Given the description of an element on the screen output the (x, y) to click on. 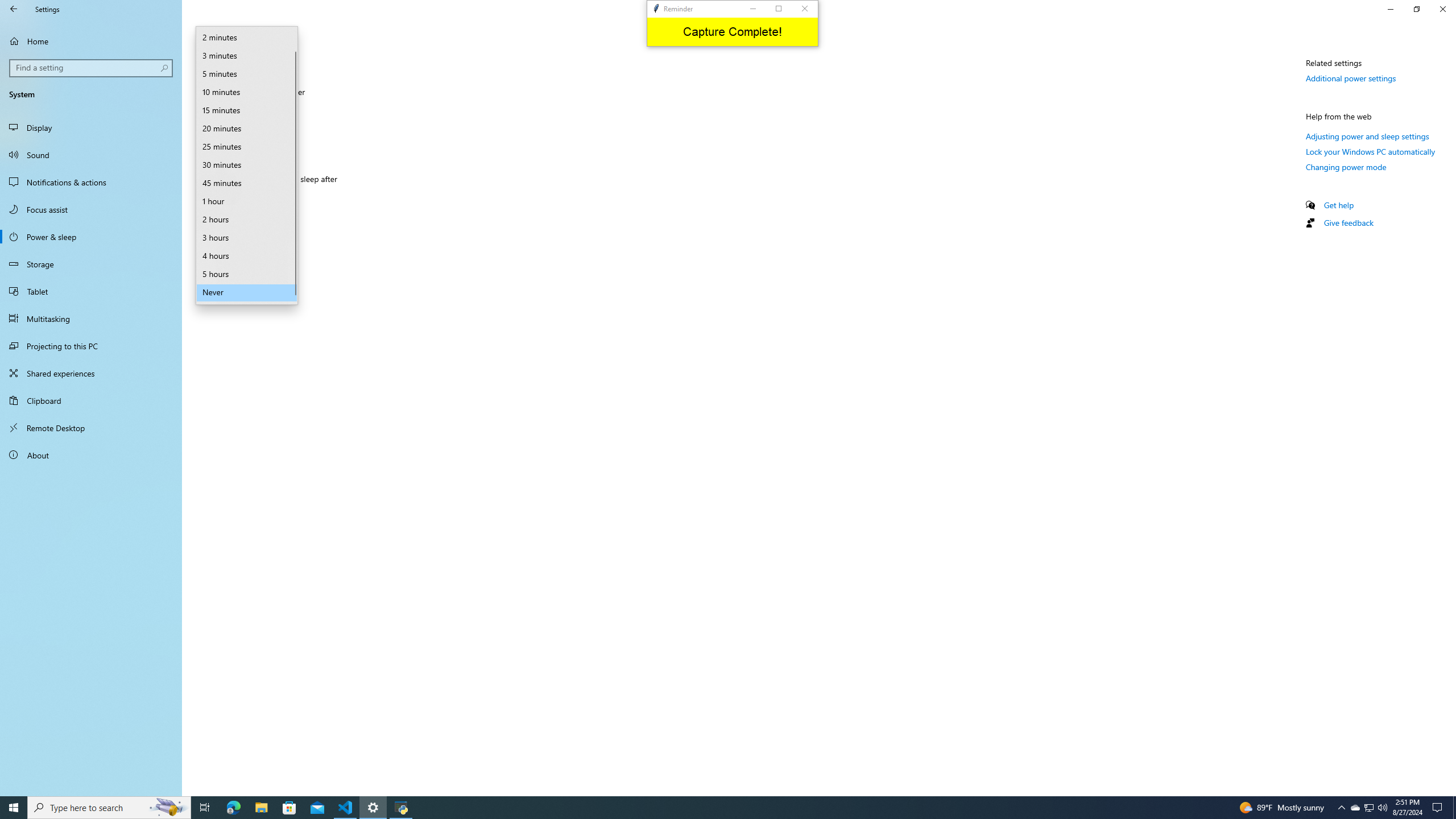
Lock your Windows PC automatically (1370, 151)
1 hour (246, 201)
Minimize Settings (1390, 9)
Notifications & actions (91, 181)
Clipboard (91, 400)
Projecting to this PC (91, 345)
When plugged in, PC goes to sleep after (246, 198)
3 minutes (246, 56)
Close Settings (1442, 9)
Multitasking (91, 318)
Search box, Find a setting (91, 67)
